Given the description of an element on the screen output the (x, y) to click on. 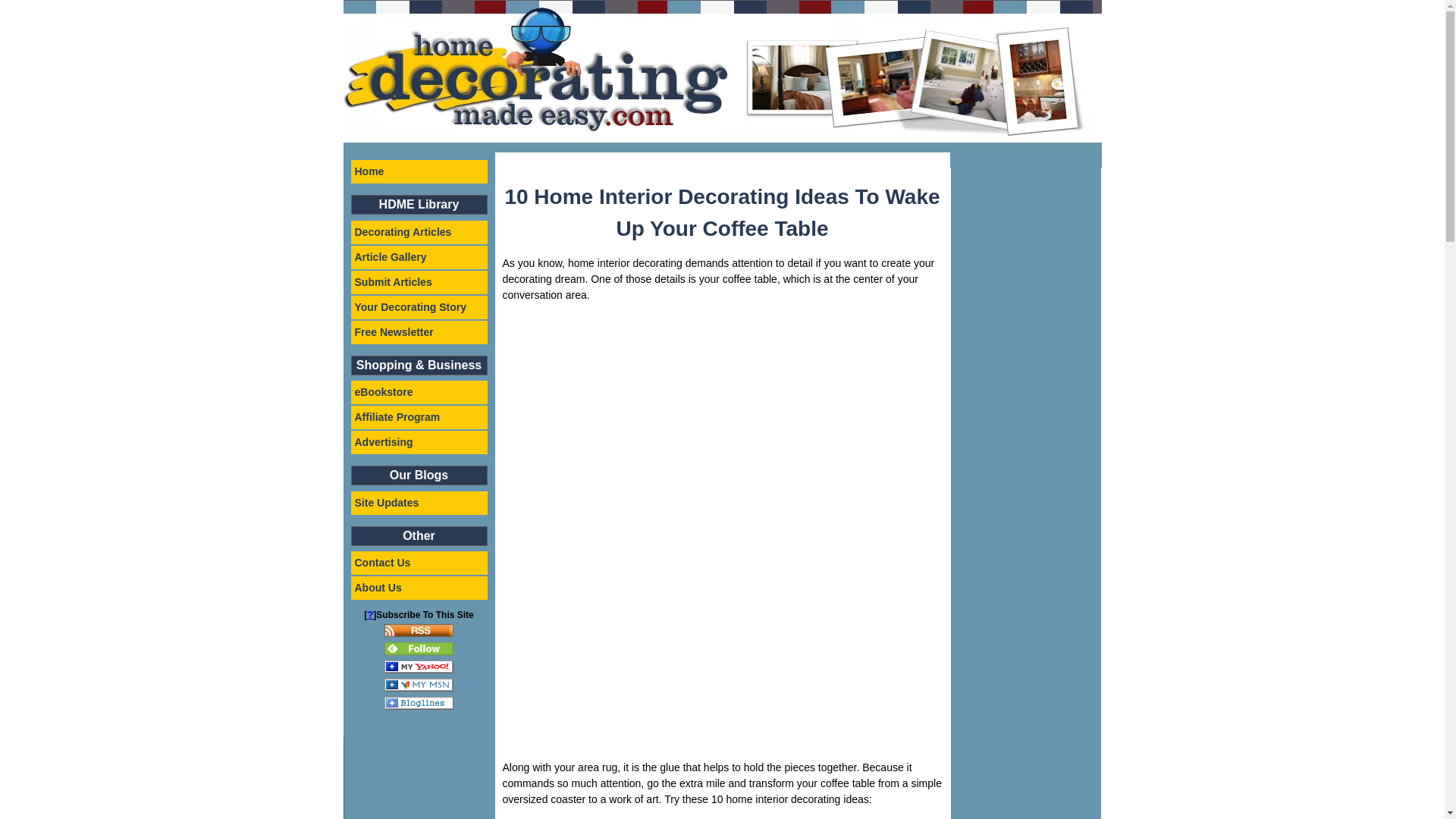
Affiliate Program (418, 417)
Your Decorating Story (418, 307)
Advertisement (629, 643)
Decorating Articles (418, 231)
Home (418, 171)
Article Gallery (418, 257)
Contact Us (418, 562)
Submit Articles (418, 281)
Site Updates (418, 503)
eBookstore (418, 392)
